Given the description of an element on the screen output the (x, y) to click on. 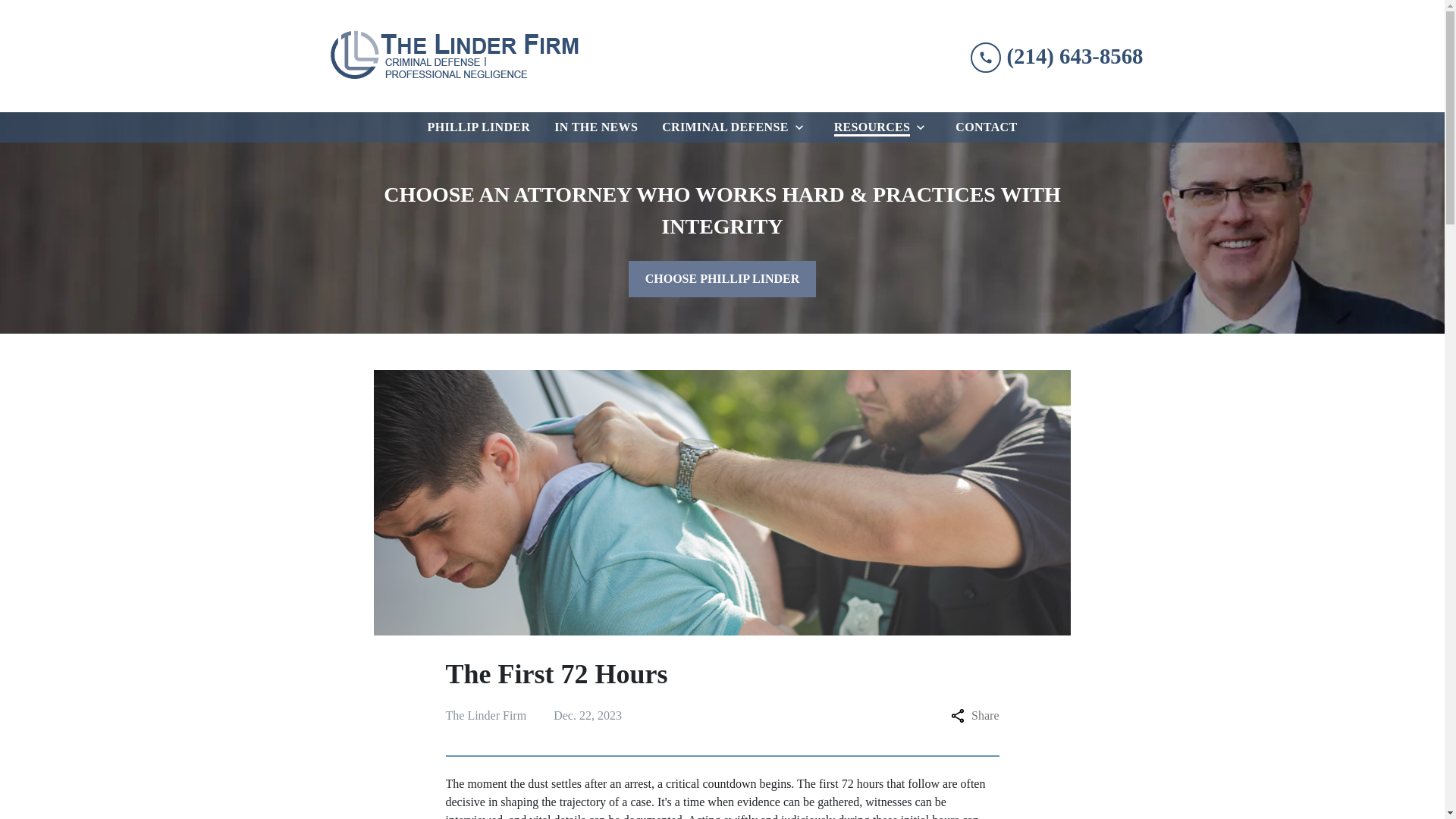
RESOURCES (869, 127)
PHILLIP LINDER (479, 127)
IN THE NEWS (595, 127)
CRIMINAL DEFENSE (721, 127)
